Given the description of an element on the screen output the (x, y) to click on. 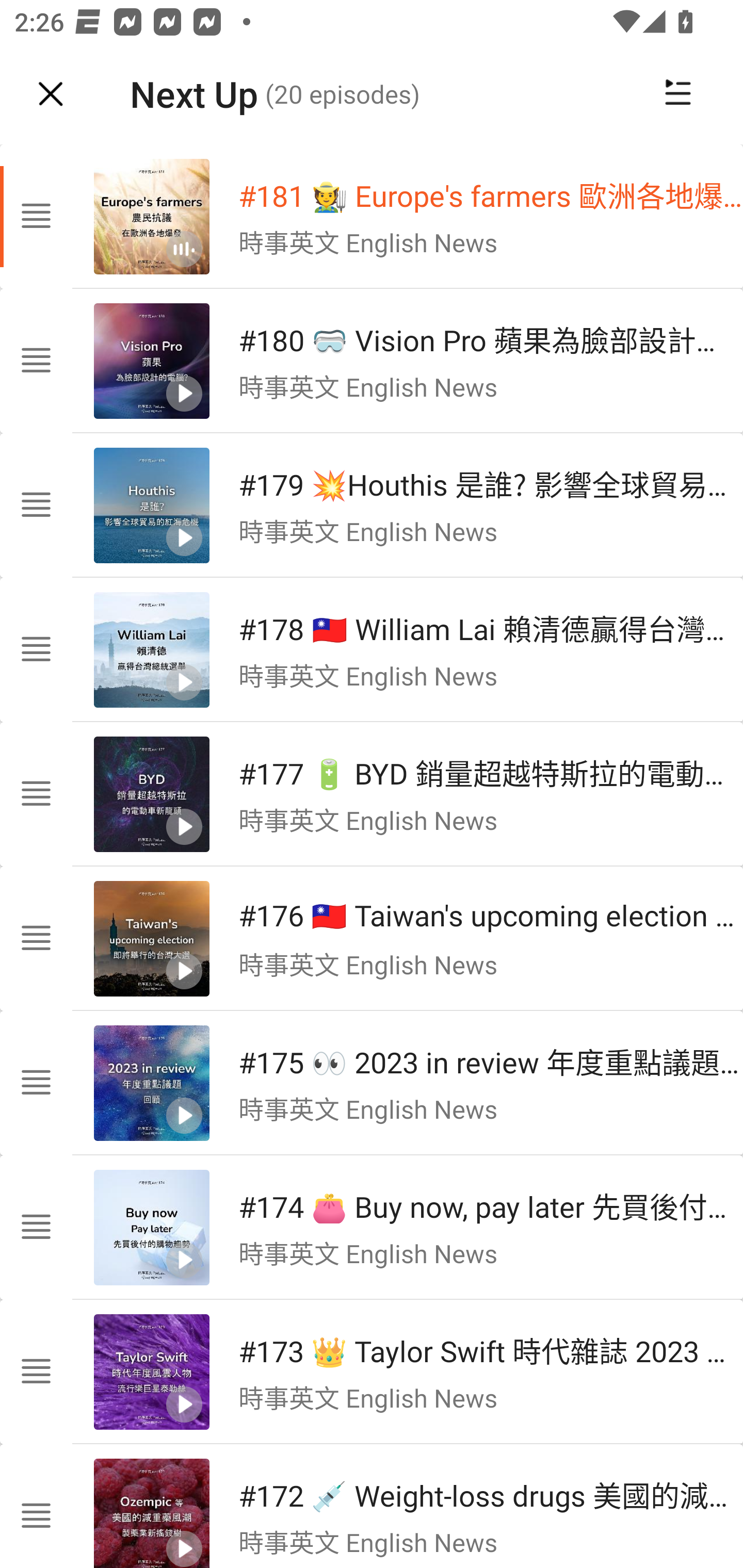
Navigate up (50, 93)
